Given the description of an element on the screen output the (x, y) to click on. 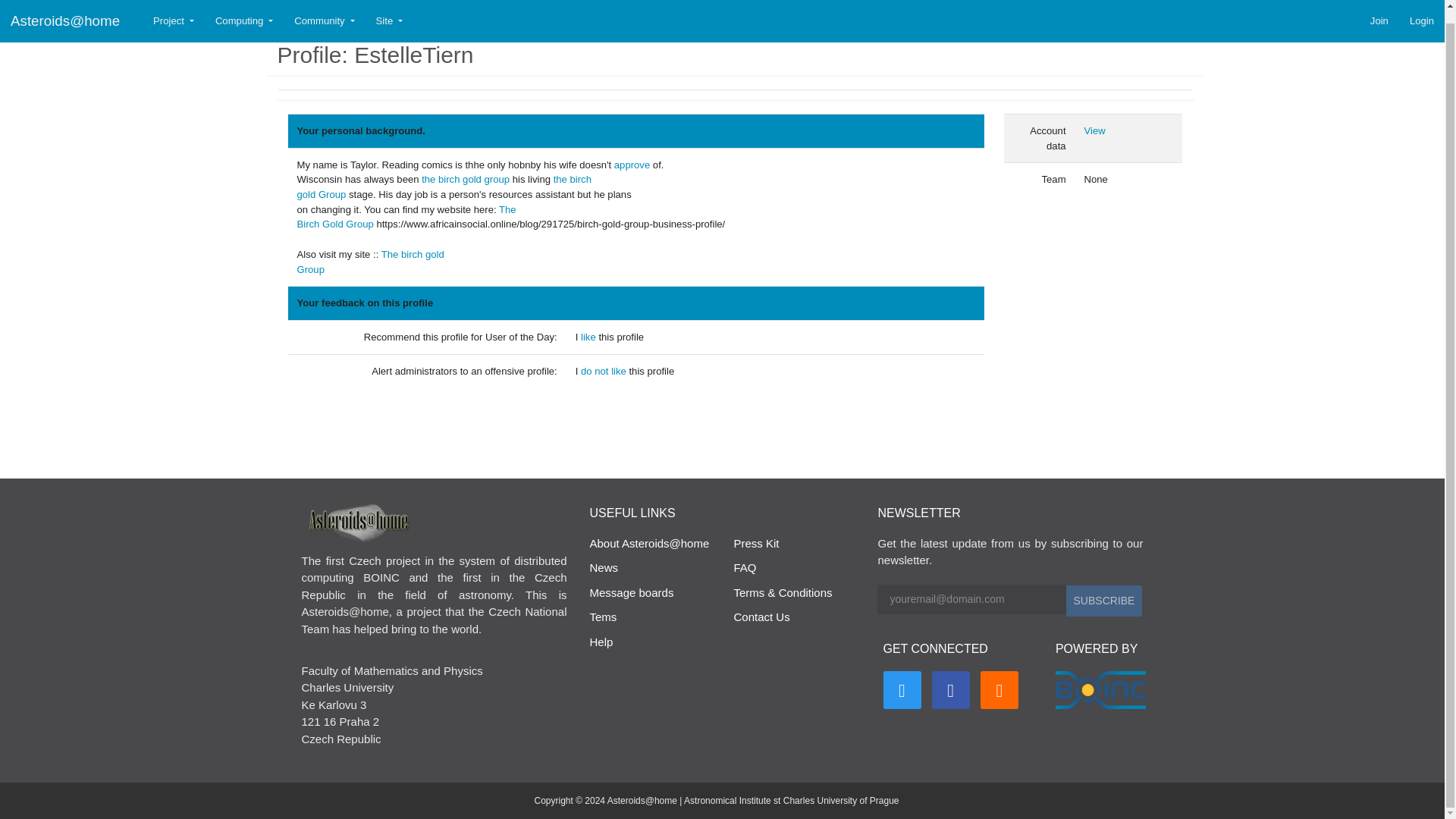
Message boards (630, 592)
the birch gold group (465, 179)
Community (324, 13)
Help (600, 641)
Computing (244, 13)
View (444, 186)
rss (370, 261)
